Given the description of an element on the screen output the (x, y) to click on. 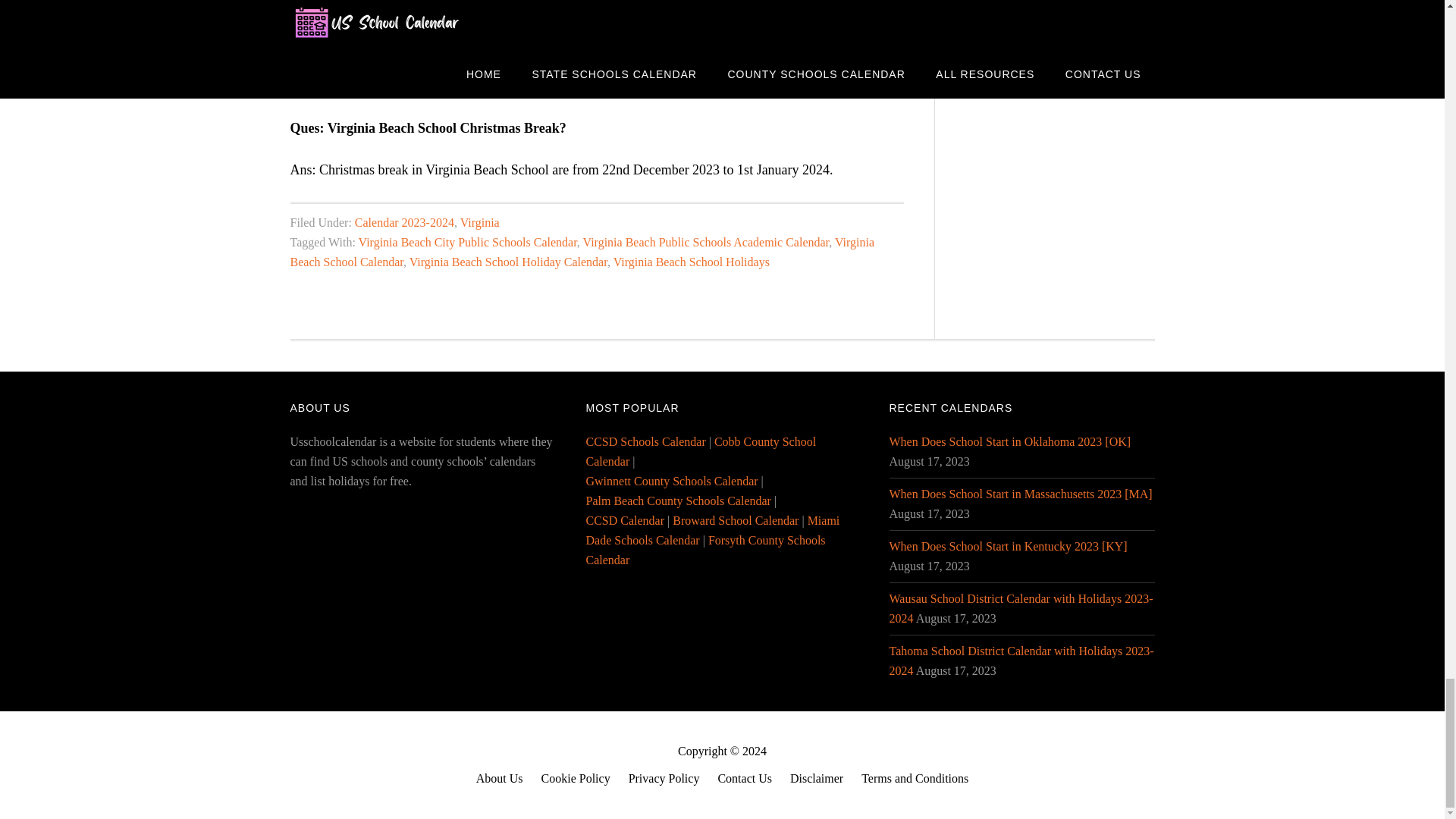
Virginia Beach School Holidays (691, 261)
CCSD Schools Calendar (644, 440)
Virginia Beach City Public Schools Calendar (467, 241)
Calendar 2023-2024 (404, 222)
Palm Beach County Schools Calendar (677, 500)
Cobb County School Calendar (700, 450)
Virginia Beach Public Schools Academic Calendar (706, 241)
Virginia (479, 222)
Gwinnett County Schools Calendar (671, 481)
Virginia Beach School Holiday Calendar (508, 261)
